Given the description of an element on the screen output the (x, y) to click on. 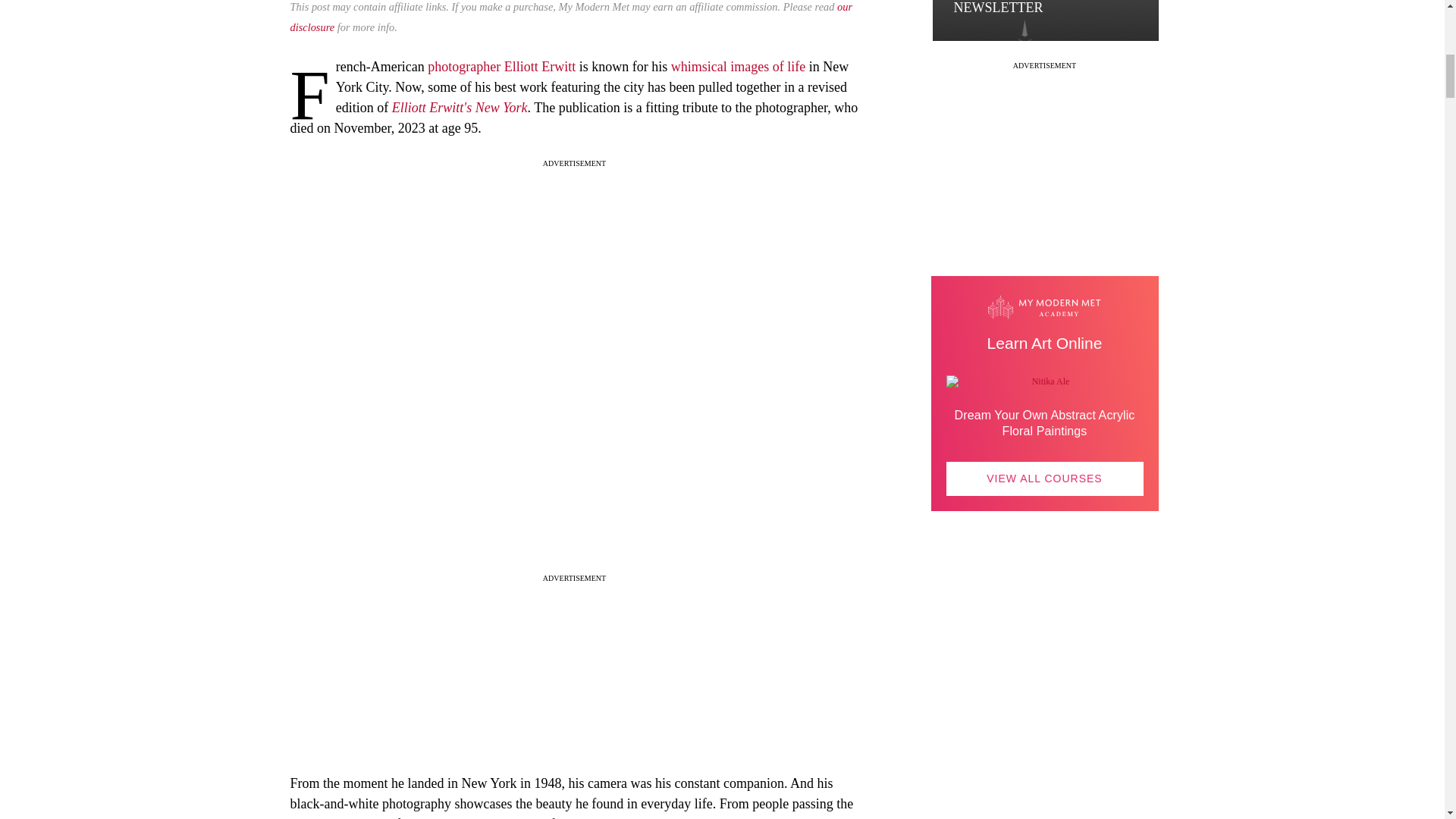
Visit Our Store (1044, 707)
